Given the description of an element on the screen output the (x, y) to click on. 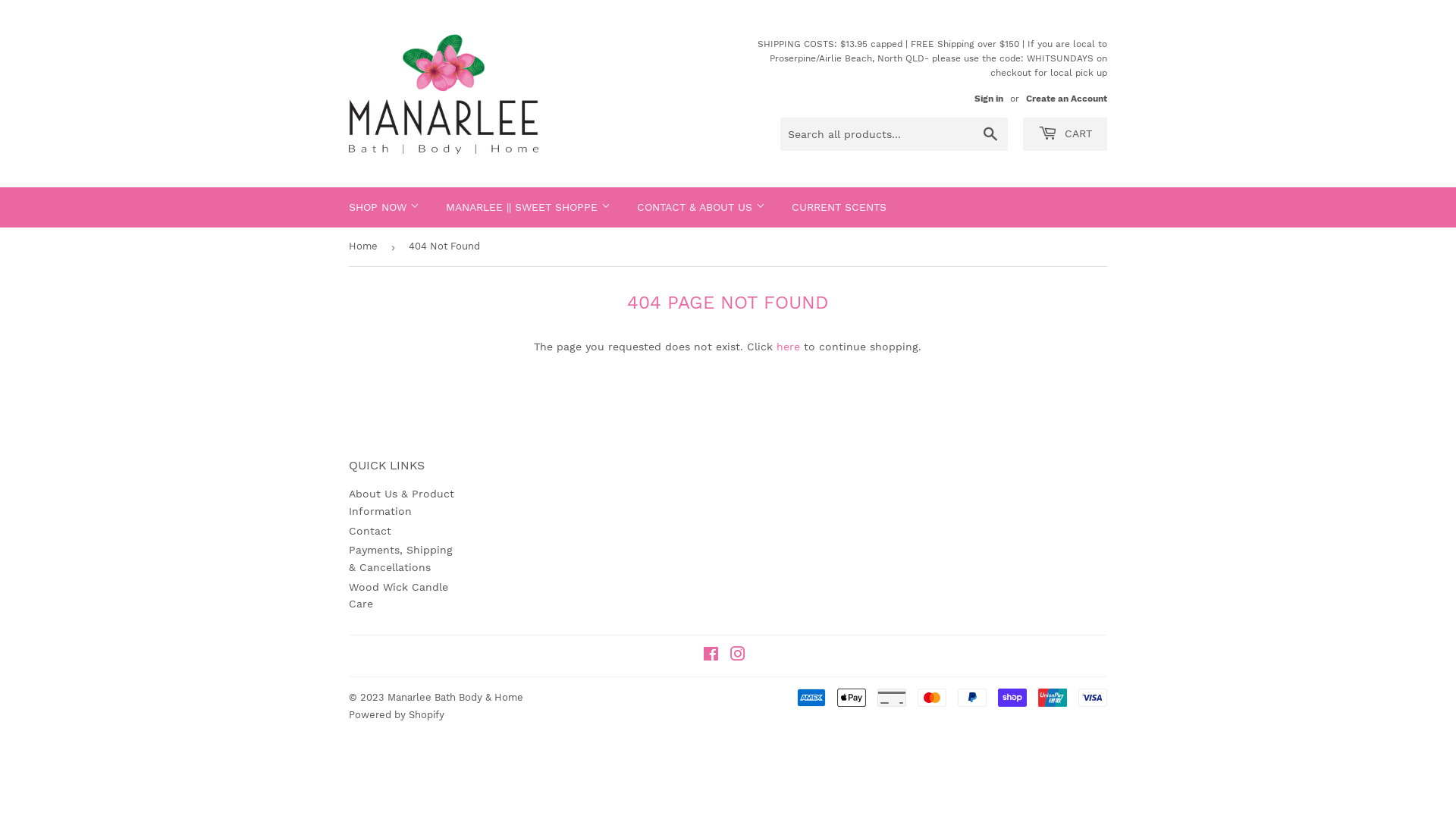
Manarlee Bath Body & Home Element type: text (455, 696)
Powered by Shopify Element type: text (396, 714)
Create an Account Element type: text (1066, 98)
Sign in Element type: text (988, 98)
Wood Wick Candle Care Element type: text (398, 594)
Facebook Element type: text (710, 655)
CART Element type: text (1064, 133)
Payments, Shipping & Cancellations Element type: text (400, 557)
Contact Element type: text (369, 530)
About Us & Product Information Element type: text (401, 501)
Home Element type: text (365, 246)
Instagram Element type: text (737, 655)
SHOP NOW Element type: text (383, 206)
CONTACT & ABOUT US Element type: text (700, 206)
MANARLEE || SWEET SHOPPE Element type: text (527, 206)
Search Element type: text (990, 134)
here Element type: text (788, 346)
CURRENT SCENTS Element type: text (838, 206)
